Given the description of an element on the screen output the (x, y) to click on. 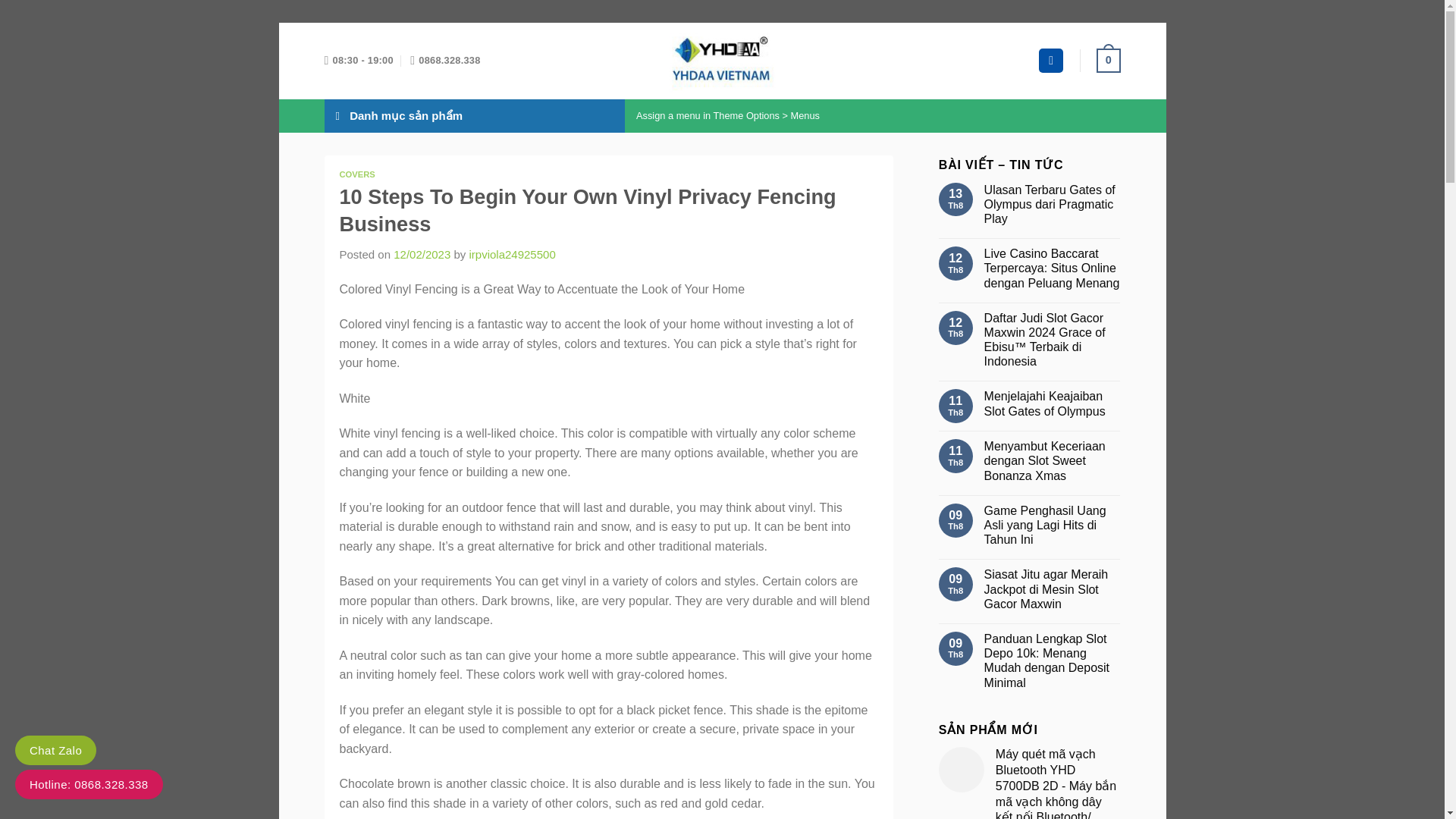
08:30 - 19:00  (358, 60)
YHDAA VIETNAM - BE YOUR SMART SOLUTION (722, 60)
irpviola24925500 (511, 254)
0868.328.338 (445, 60)
0868.328.338 (445, 60)
COVERS (357, 174)
08:30 - 19:00 (358, 60)
